Given the description of an element on the screen output the (x, y) to click on. 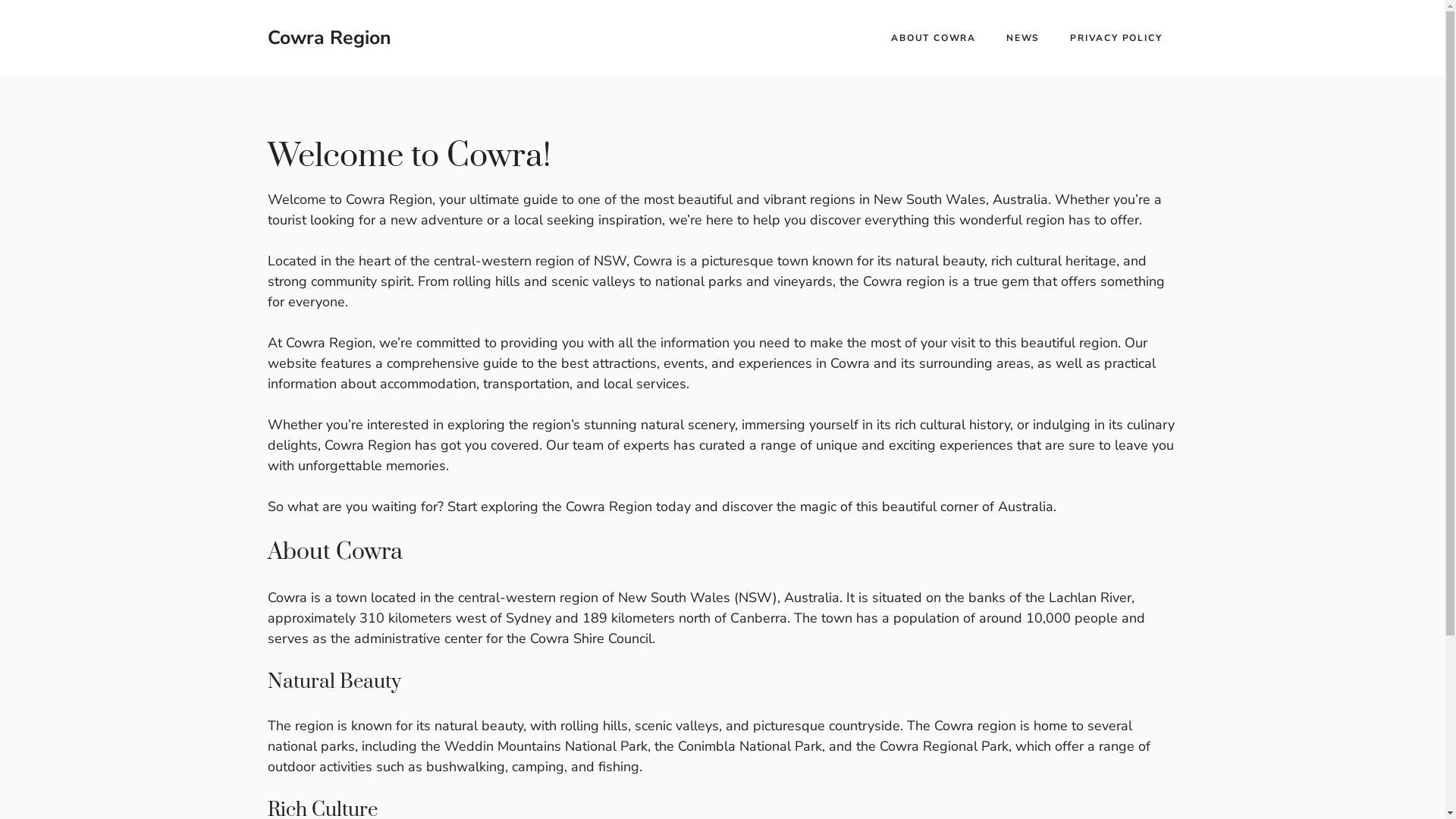
PRIVACY POLICY Element type: text (1115, 37)
ABOUT COWRA Element type: text (933, 37)
Cowra Region Element type: text (328, 37)
NEWS Element type: text (1022, 37)
